Given the description of an element on the screen output the (x, y) to click on. 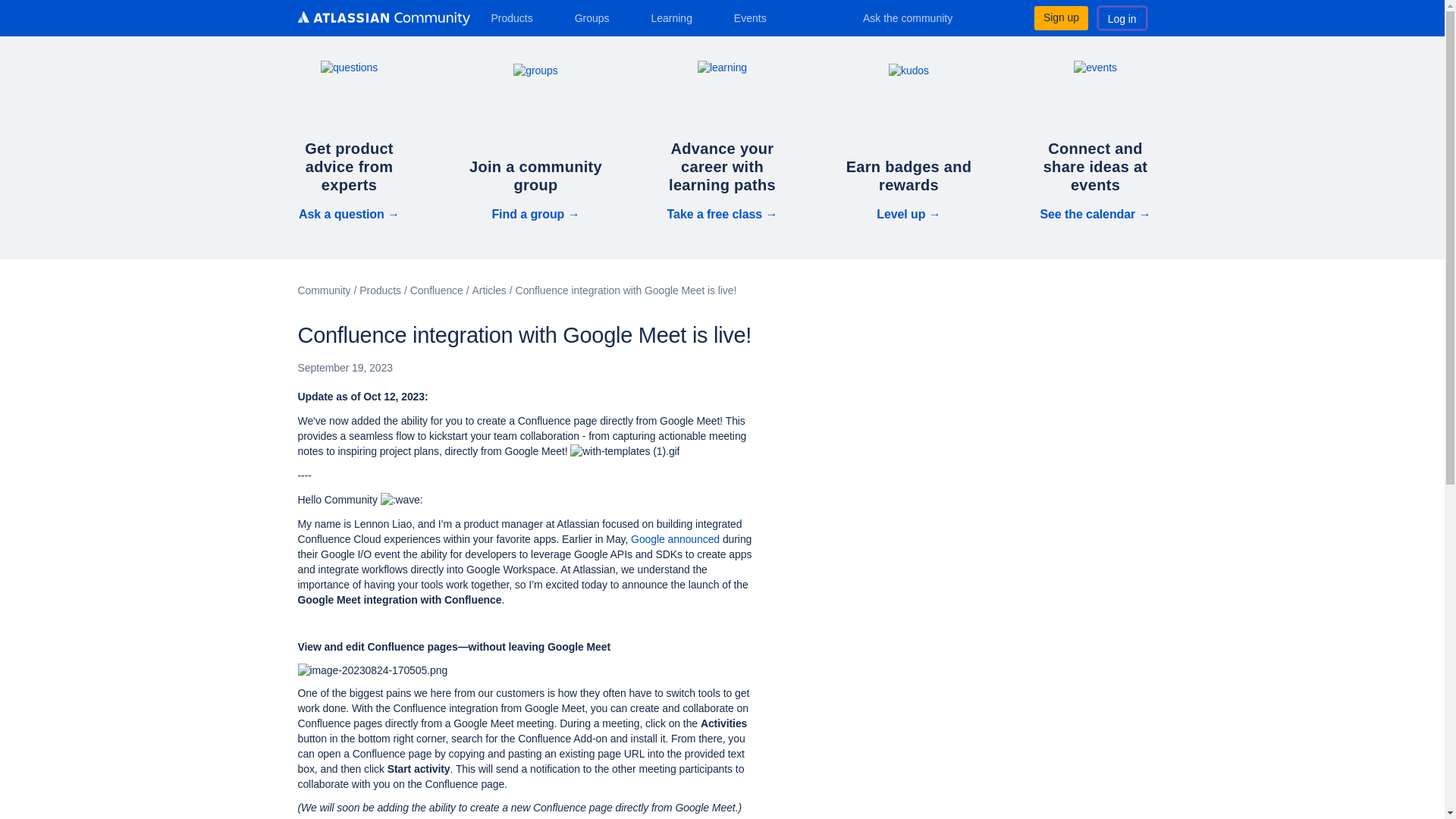
Sign up (1060, 17)
Products (517, 17)
Atlassian Community logo (382, 19)
Events (756, 17)
Ask the community  (917, 17)
Log in (1122, 17)
Learning (676, 17)
image-20230824-170505.png (371, 670)
Atlassian Community logo (382, 18)
Groups (598, 17)
